Given the description of an element on the screen output the (x, y) to click on. 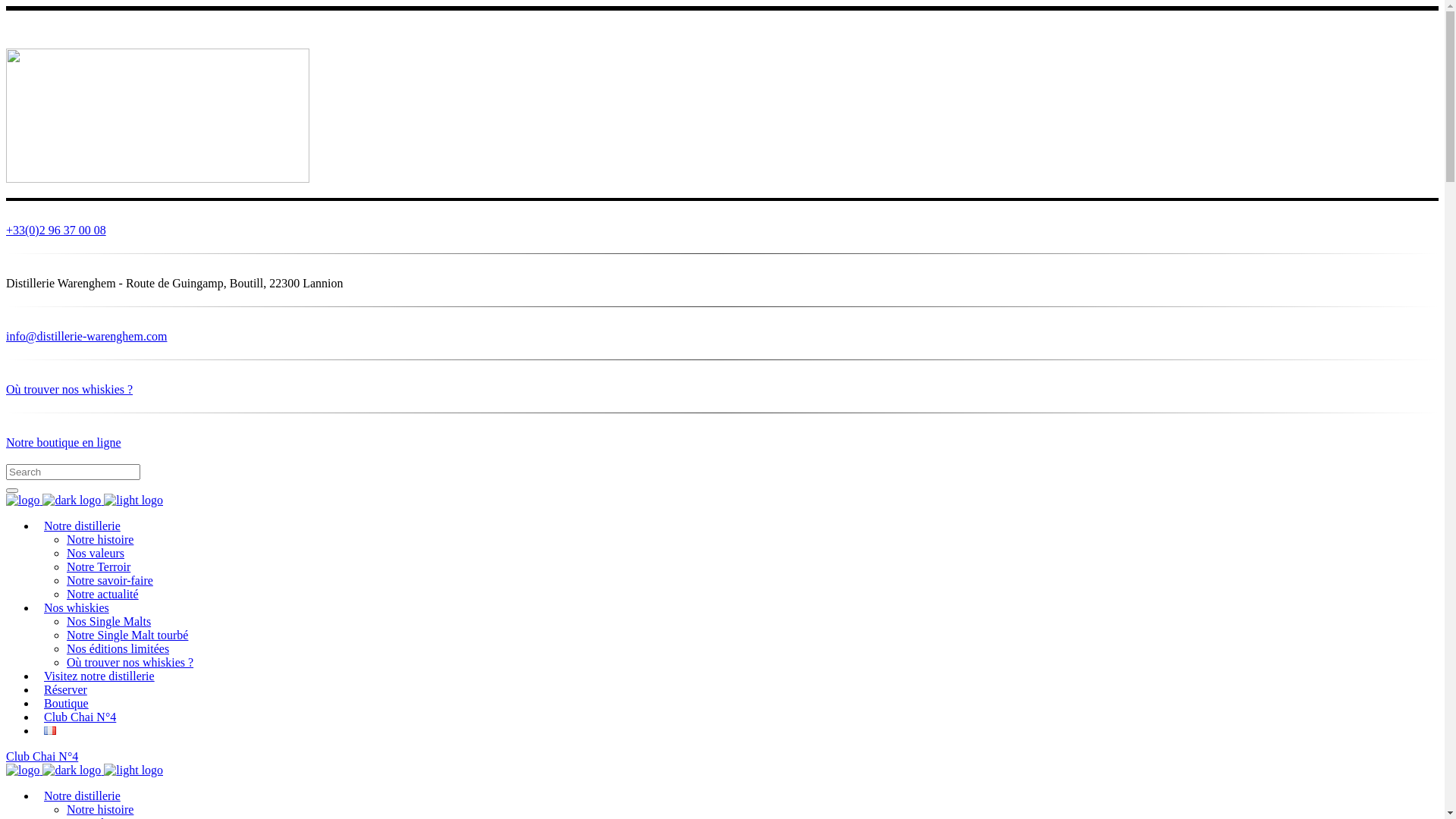
Notre histoire Element type: text (99, 809)
Notre distillerie Element type: text (82, 795)
Nos Single Malts Element type: text (108, 621)
Notre histoire Element type: text (99, 539)
info@distillerie-warenghem.com Element type: text (722, 340)
Visitez notre distillerie Element type: text (99, 675)
Nos valeurs Element type: text (95, 552)
Notre savoir-faire Element type: text (109, 580)
Nos whiskies Element type: text (76, 607)
Notre boutique en ligne Element type: text (722, 442)
Boutique Element type: text (66, 702)
Notre Terroir Element type: text (98, 566)
+33(0)2 96 37 00 08 Element type: text (722, 234)
Notre distillerie Element type: text (82, 525)
